Given the description of an element on the screen output the (x, y) to click on. 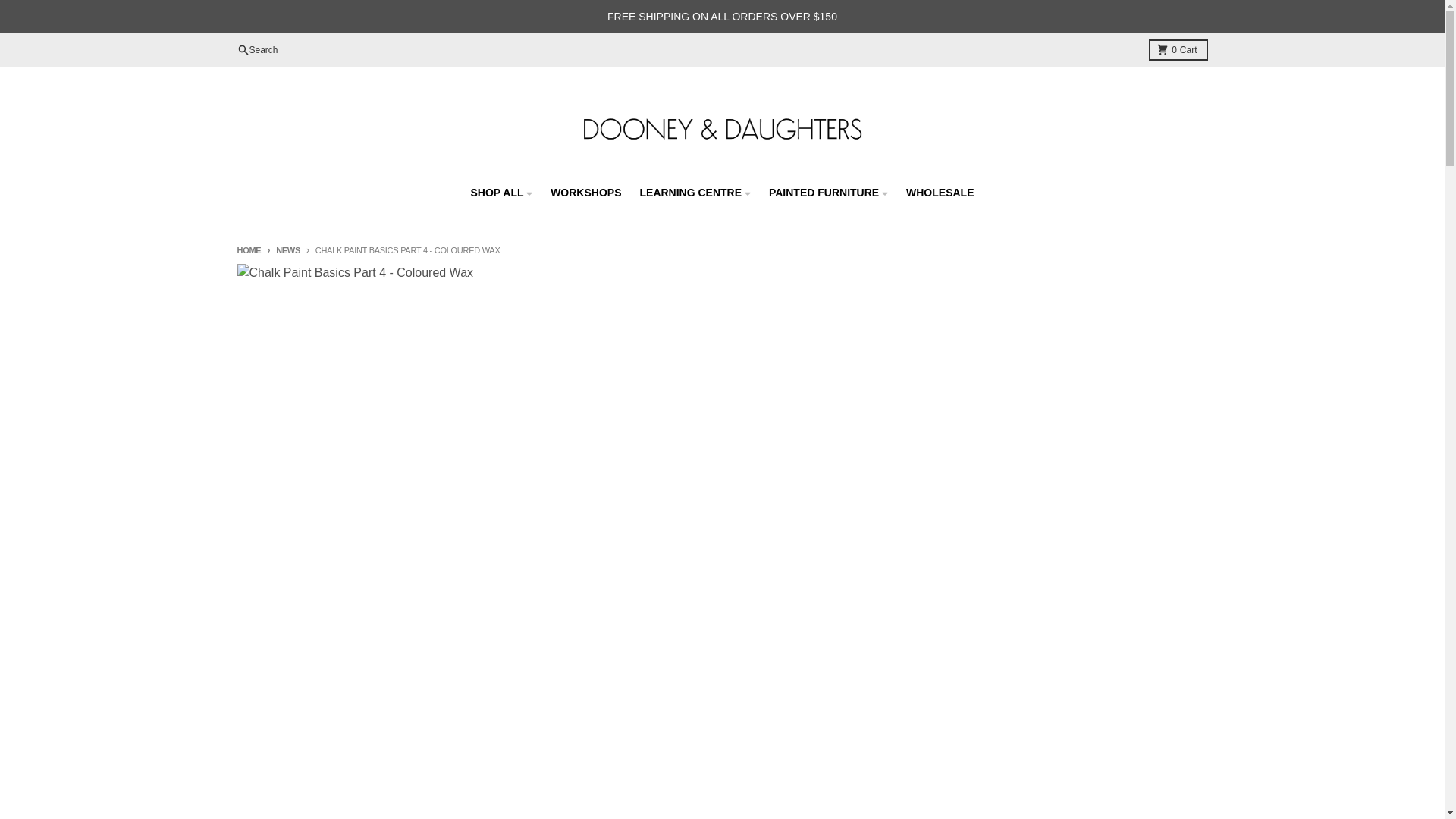
Search (256, 49)
Back to the homepage (247, 249)
